Given the description of an element on the screen output the (x, y) to click on. 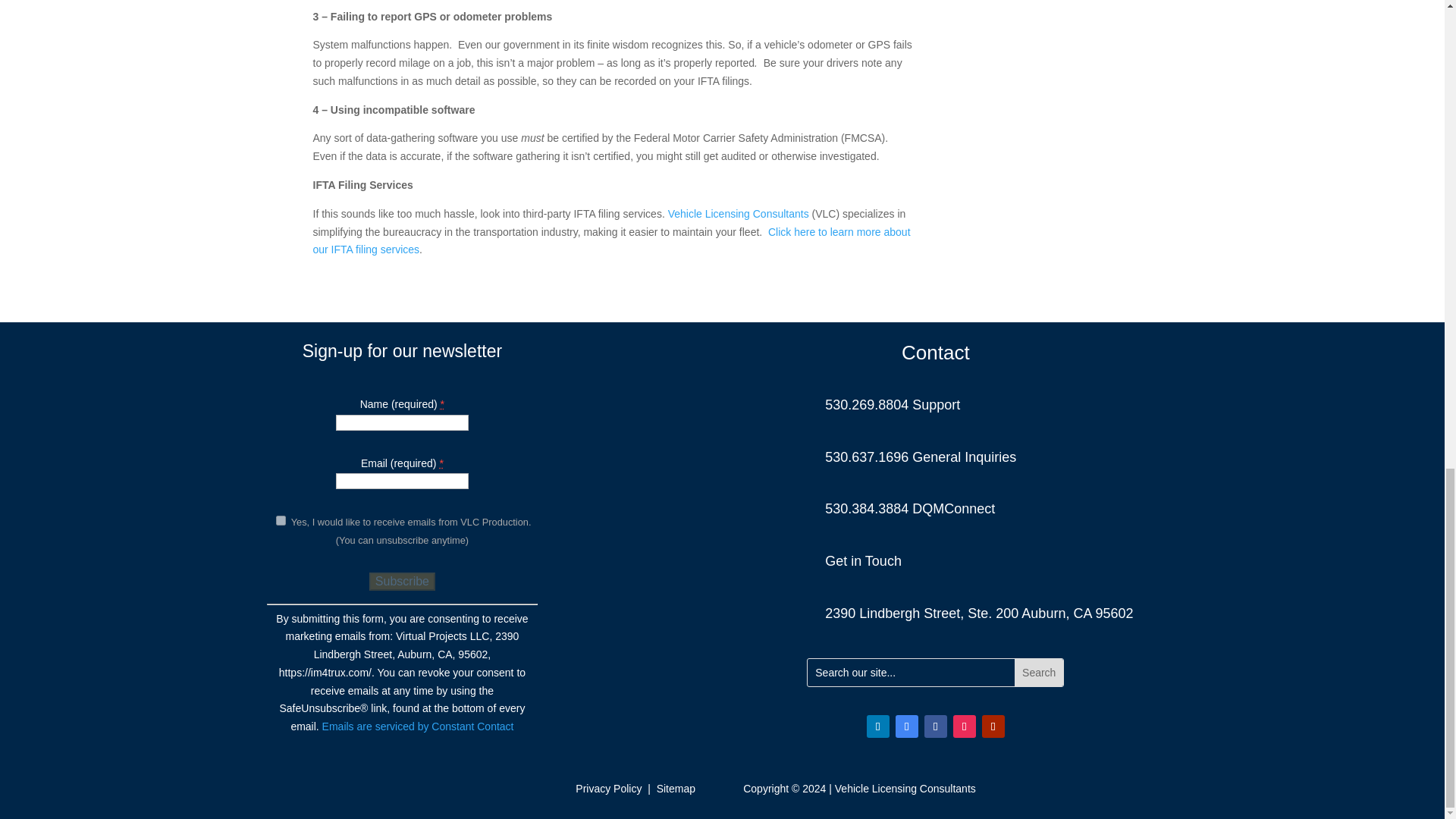
Follow on Google (906, 725)
Search (1038, 672)
Follow on Facebook (935, 725)
Subscribe (402, 581)
Follow on LinkedIn (877, 725)
1 (280, 520)
Search (1038, 672)
